Given the description of an element on the screen output the (x, y) to click on. 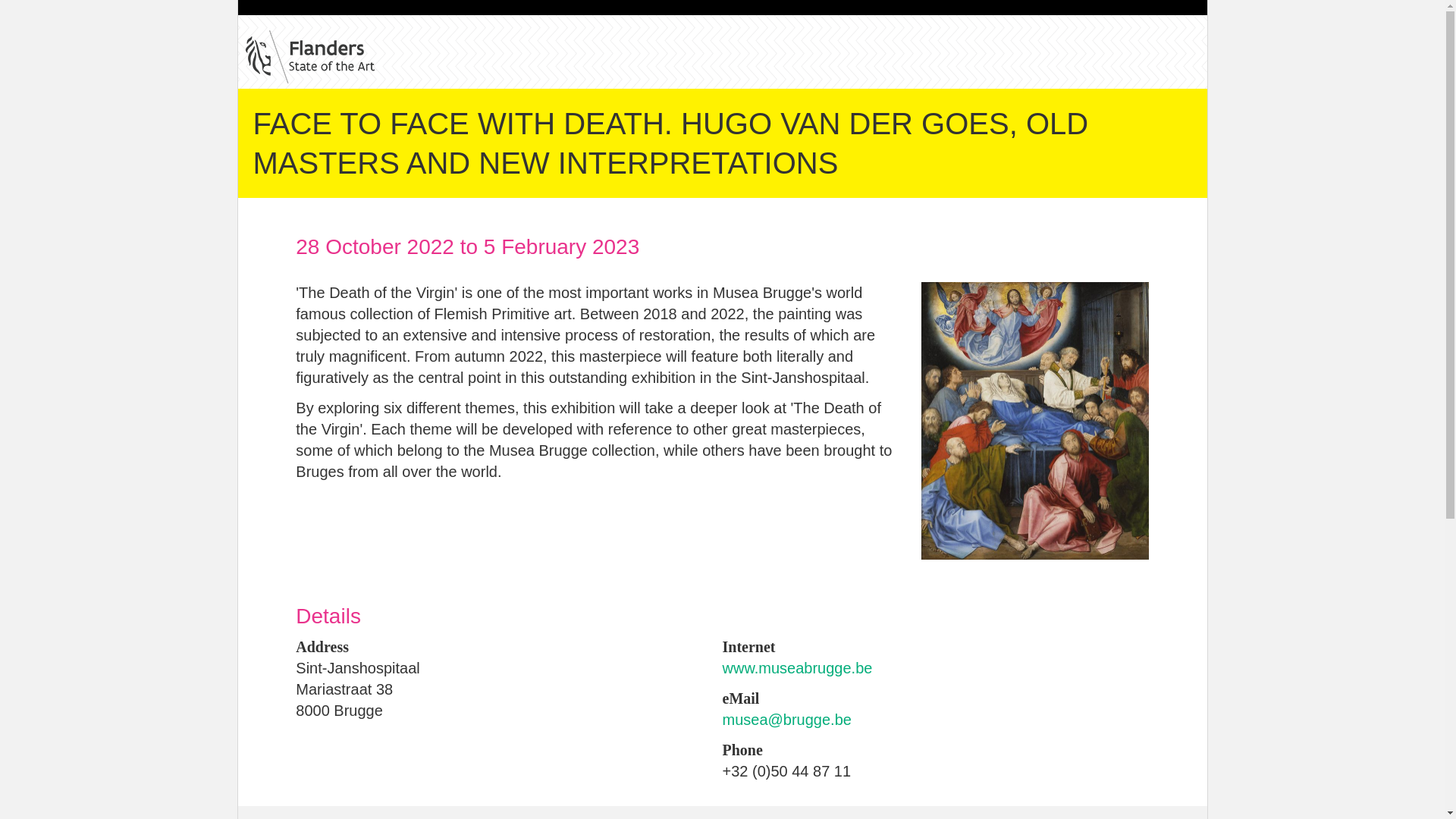
www.museabrugge.be (797, 668)
